Given the description of an element on the screen output the (x, y) to click on. 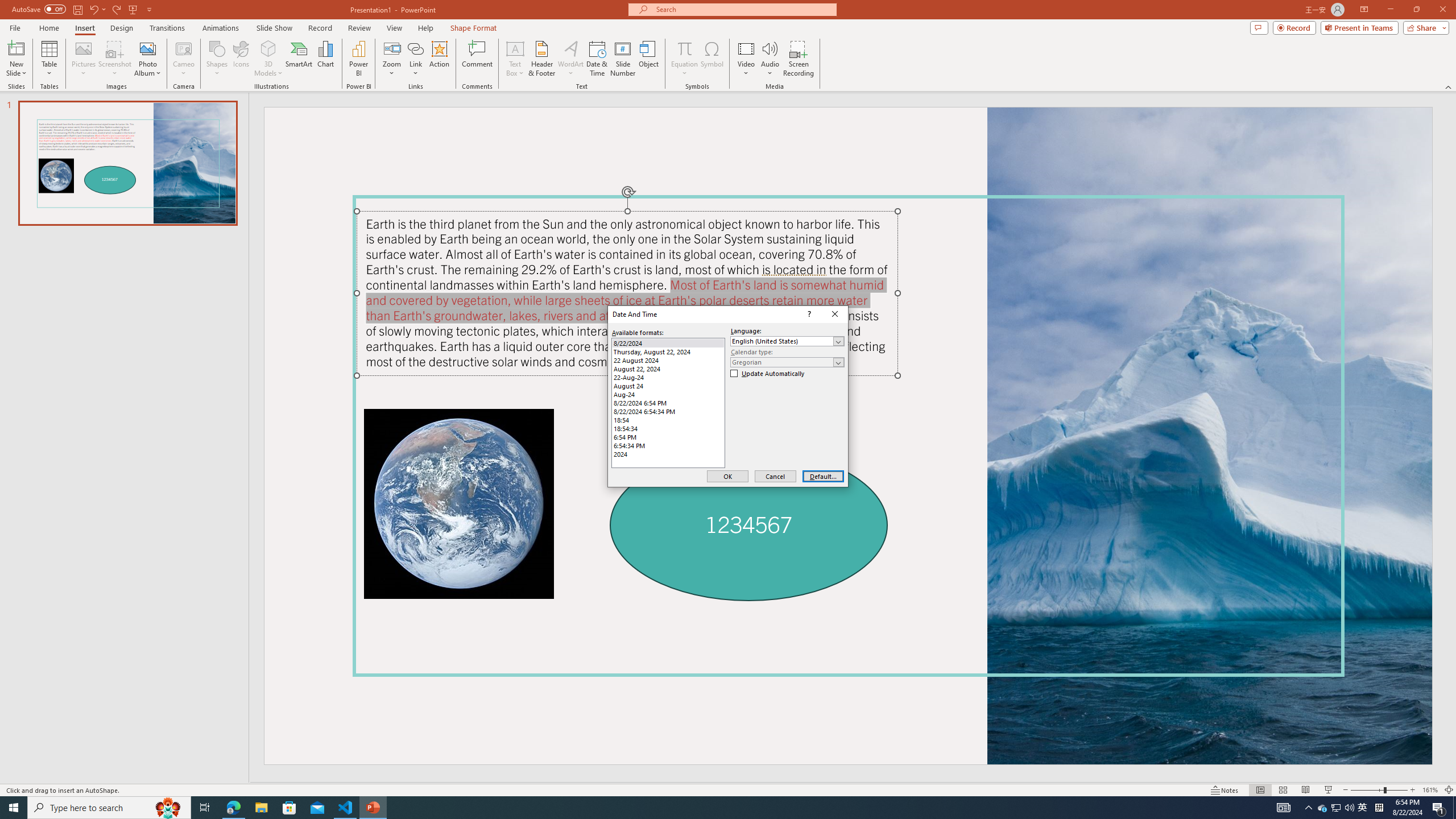
Date & Time... (596, 58)
August 22, 2024 (667, 368)
Notification Chevron (1308, 807)
